Given the description of an element on the screen output the (x, y) to click on. 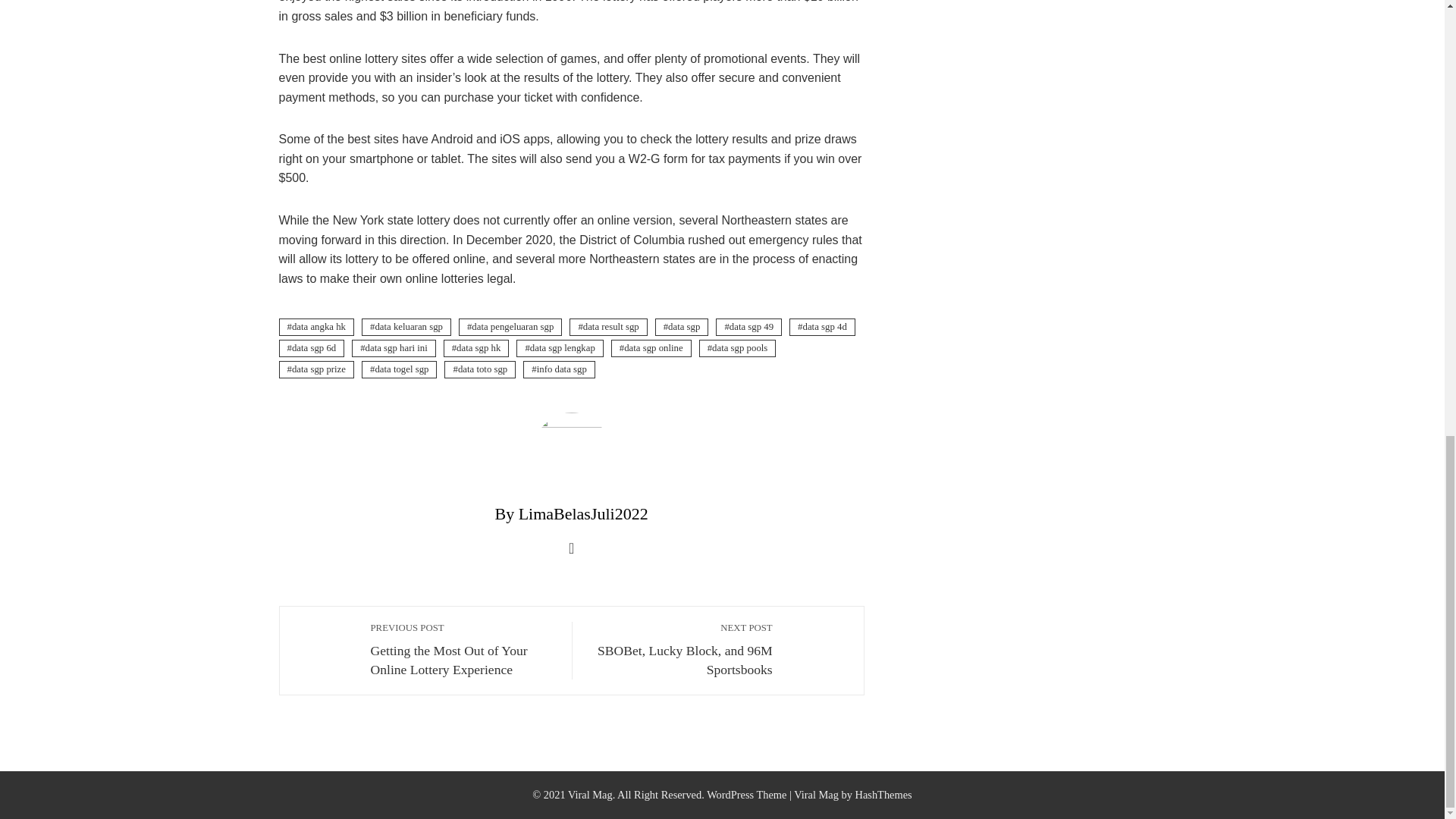
data sgp hari ini (393, 348)
data sgp 4d (822, 326)
data sgp hk (476, 348)
data sgp pools (680, 649)
data sgp (737, 348)
data sgp 6d (682, 326)
data togel sgp (312, 348)
data toto sgp (398, 369)
Download Viral News (479, 369)
